Given the description of an element on the screen output the (x, y) to click on. 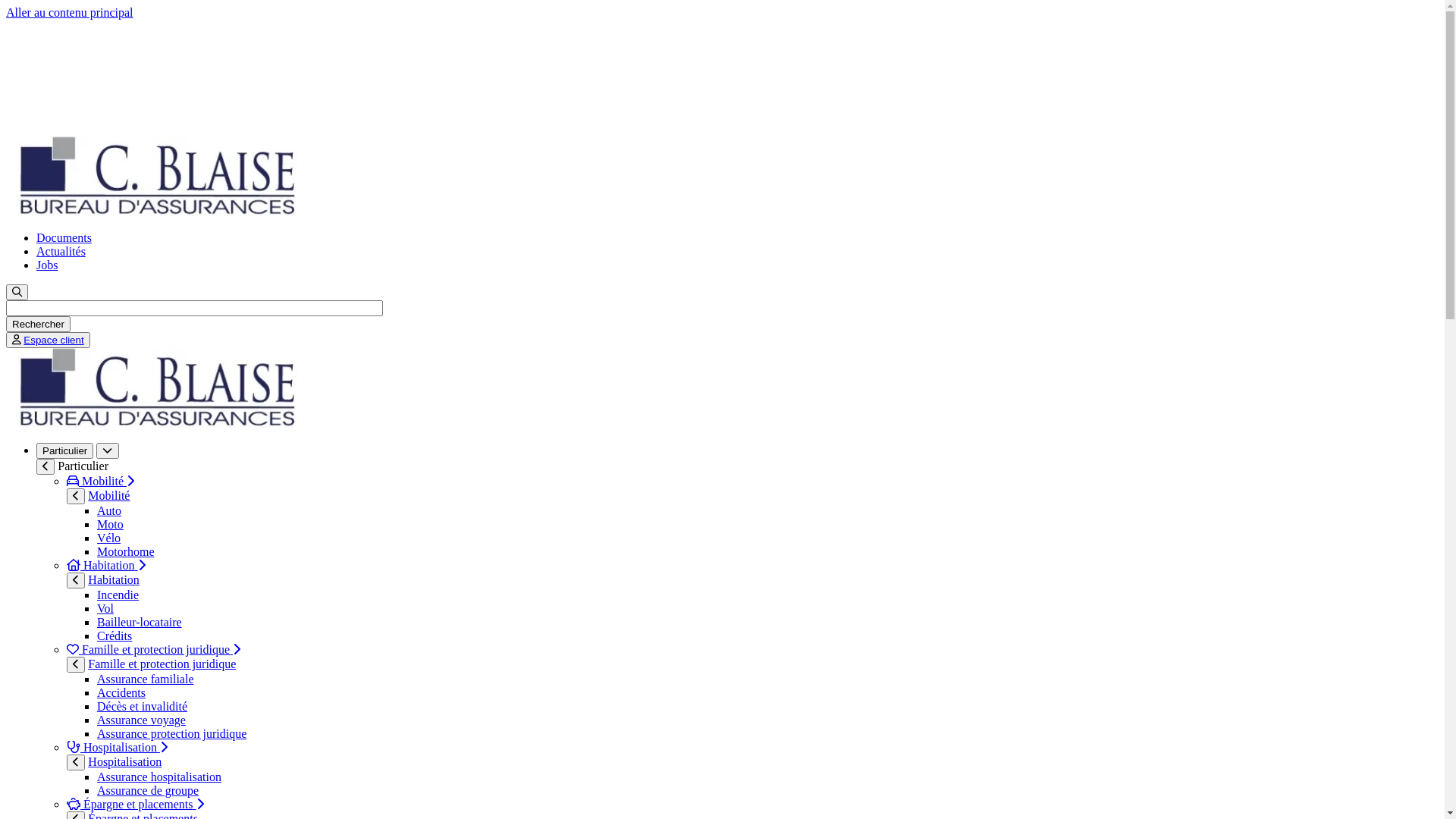
Motorhome Element type: text (125, 551)
Espace client Element type: text (53, 339)
Famille et protection juridique Element type: text (153, 649)
Incendie Element type: text (117, 594)
Habitation Element type: text (113, 579)
Habitation Element type: text (105, 564)
Rechercher Element type: text (38, 324)
Moto Element type: text (110, 523)
Auto Element type: text (109, 510)
Famille et protection juridique Element type: text (161, 663)
Aller au contenu principal Element type: text (69, 12)
Assurance de groupe Element type: text (147, 790)
Vol Element type: text (105, 608)
Hospitalisation Element type: text (124, 761)
Accidents Element type: text (121, 692)
Documents Element type: text (63, 237)
Particulier Element type: text (64, 450)
Hospitalisation Element type: text (116, 746)
Assurance familiale Element type: text (145, 678)
Assurance hospitalisation Element type: text (159, 776)
Jobs Element type: text (46, 264)
Espace client Element type: text (48, 340)
Bailleur-locataire Element type: text (139, 621)
Assurance protection juridique Element type: text (171, 733)
Assurance voyage Element type: text (141, 719)
